Given the description of an element on the screen output the (x, y) to click on. 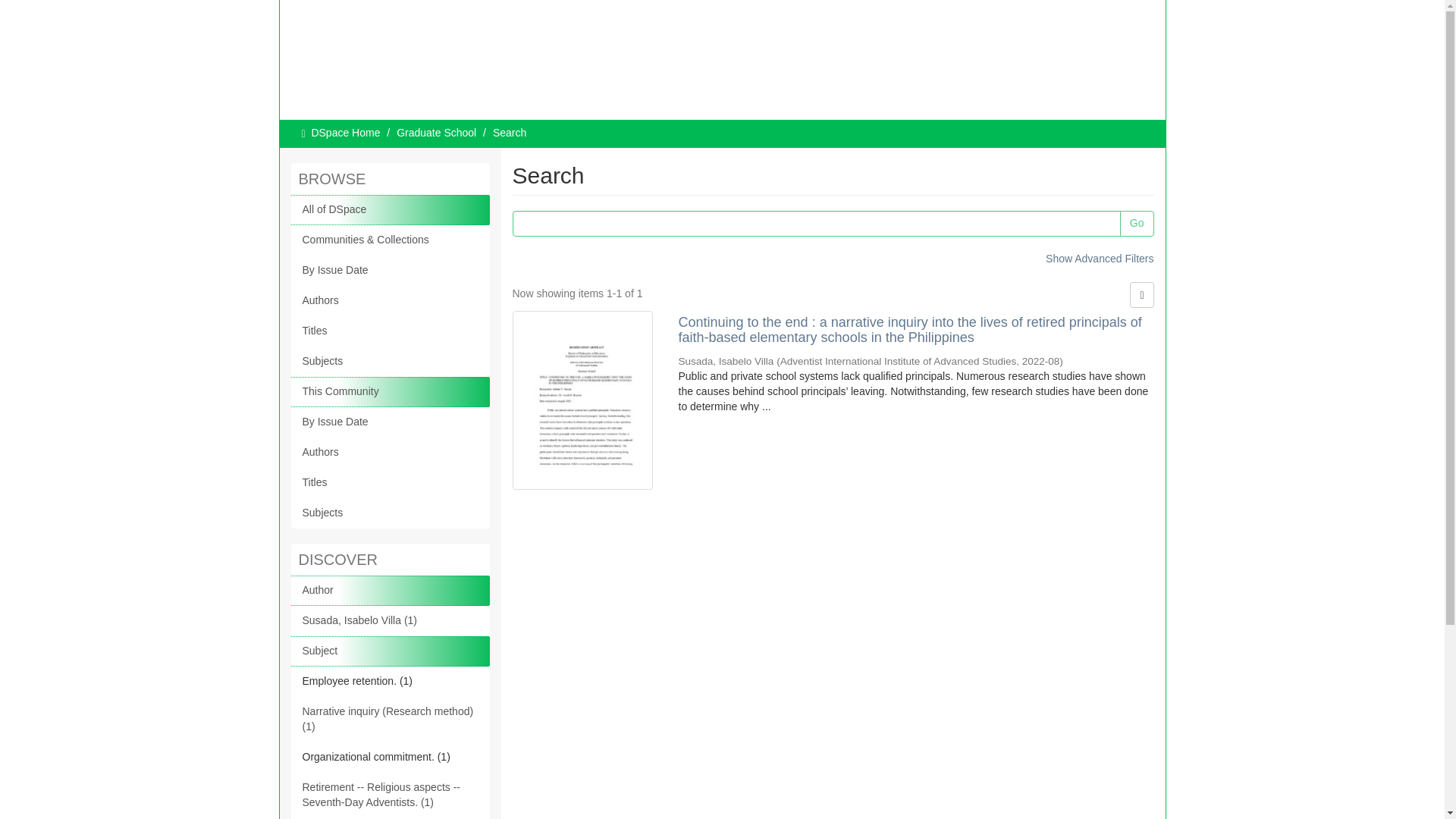
Show Advanced Filters (1099, 258)
By Issue Date (390, 270)
Graduate School (436, 132)
Go (1136, 223)
All of DSpace (390, 209)
DSpace Home (345, 132)
